Given the description of an element on the screen output the (x, y) to click on. 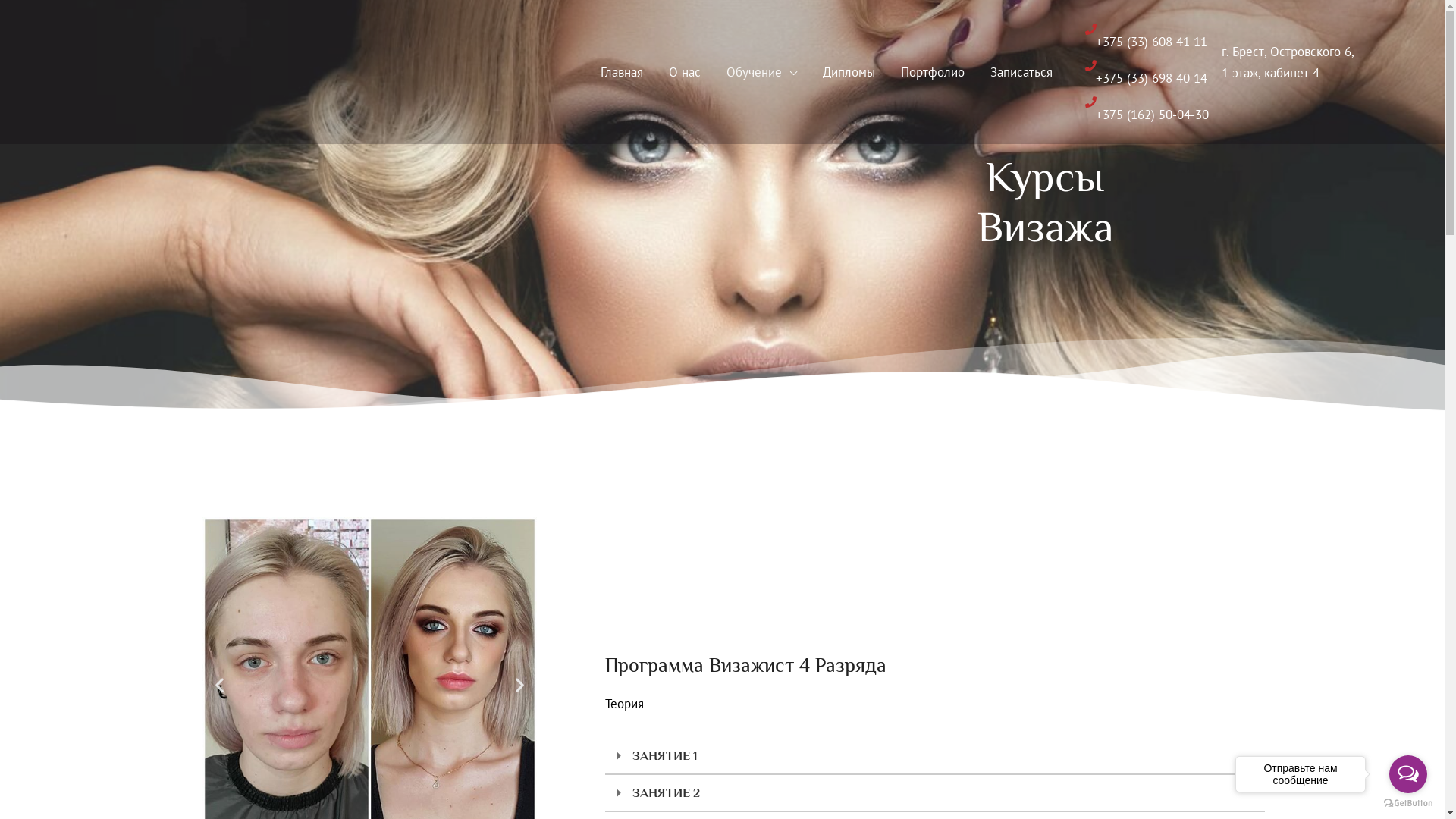
+375 (33) 608 41 11 Element type: text (1145, 35)
+375 (162) 50-04-30 Element type: text (1146, 108)
+375 (33) 698 40 14 Element type: text (1145, 72)
